Given the description of an element on the screen output the (x, y) to click on. 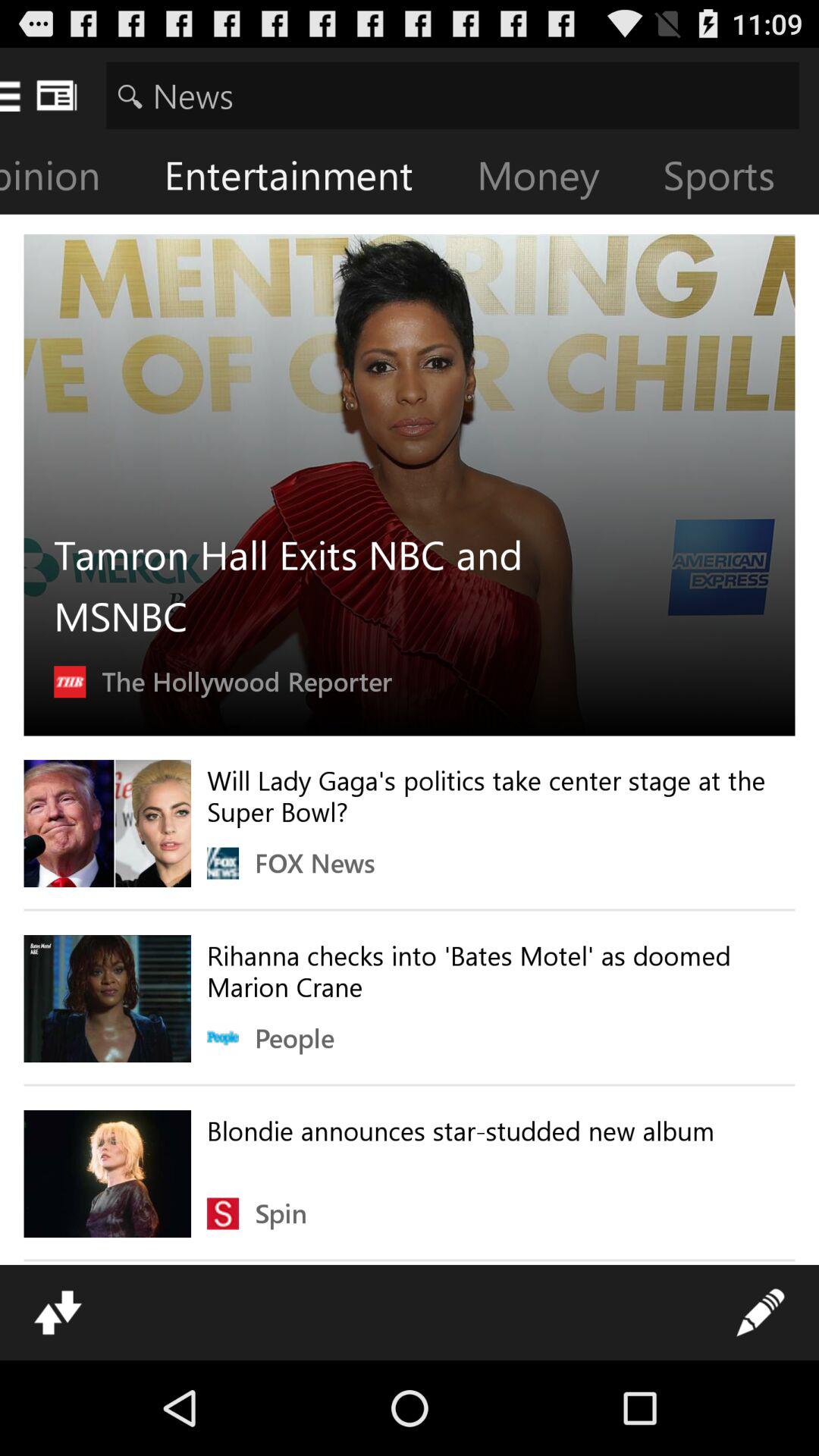
launch item above opinion icon (452, 95)
